Given the description of an element on the screen output the (x, y) to click on. 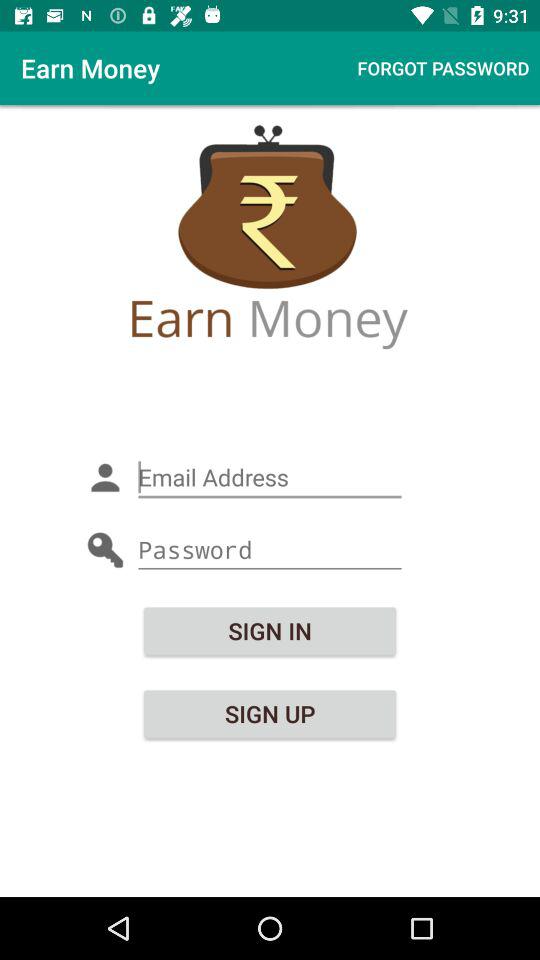
type in your email address (269, 477)
